Given the description of an element on the screen output the (x, y) to click on. 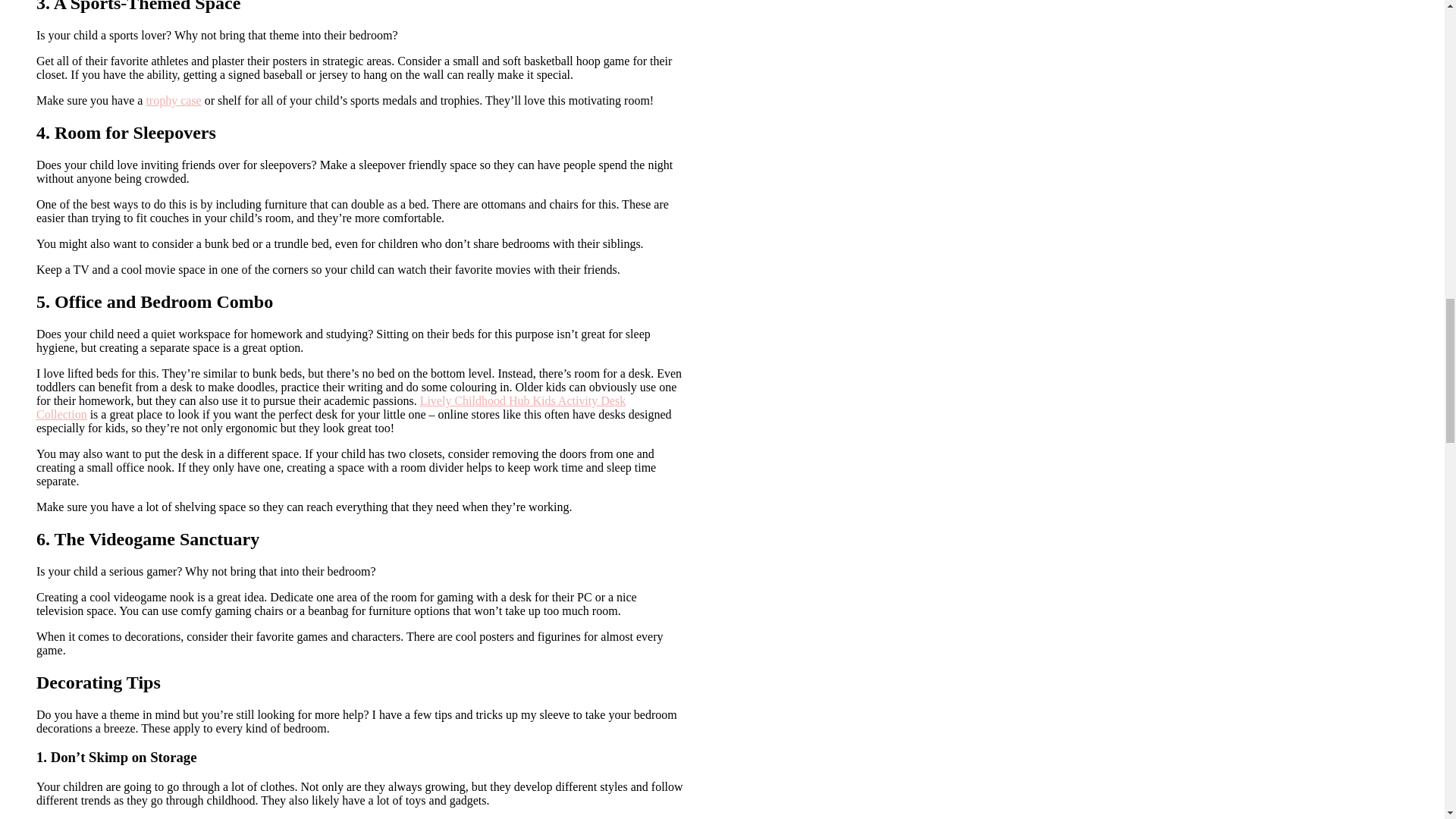
trophy case (172, 100)
Lively Childhood Hub Kids Activity Desk Collection (331, 406)
